Given the description of an element on the screen output the (x, y) to click on. 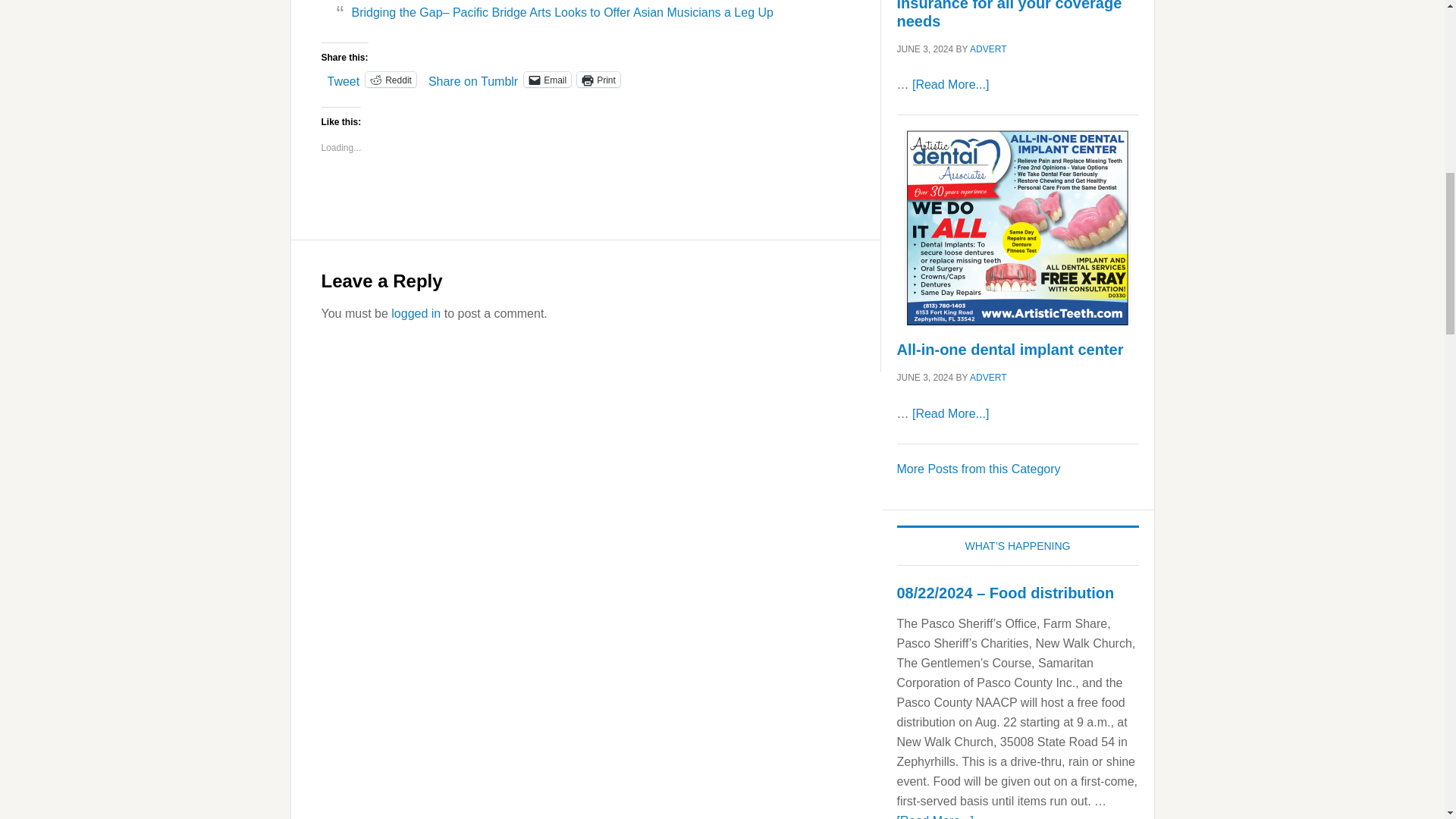
Sponsored Content (977, 468)
Click to email a link to a friend (547, 79)
Click to print (598, 79)
Click to share on Reddit (390, 79)
Share on Tumblr (473, 78)
